Given the description of an element on the screen output the (x, y) to click on. 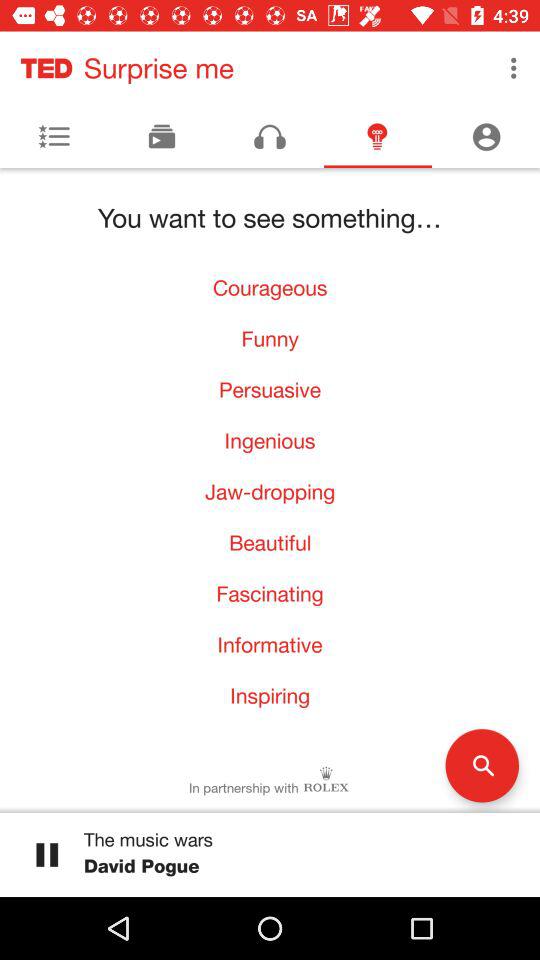
launch icon below courageous (270, 338)
